Given the description of an element on the screen output the (x, y) to click on. 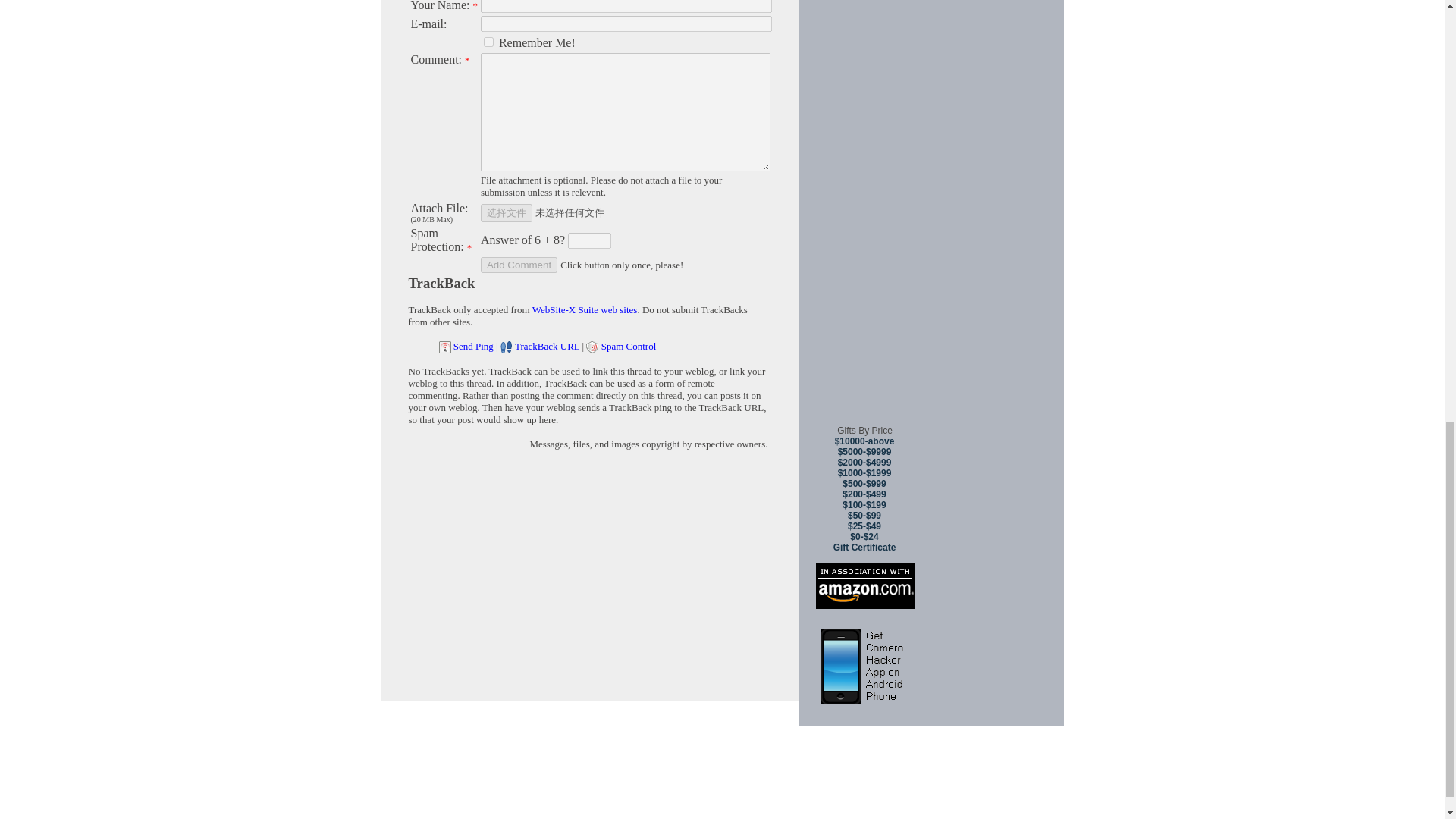
Add Comment (518, 264)
Add Comment (518, 264)
TrackBack URL (547, 346)
TrackBack (440, 283)
WebSite-X Suite web sites (584, 309)
Send Ping (472, 346)
yes (488, 41)
